Given the description of an element on the screen output the (x, y) to click on. 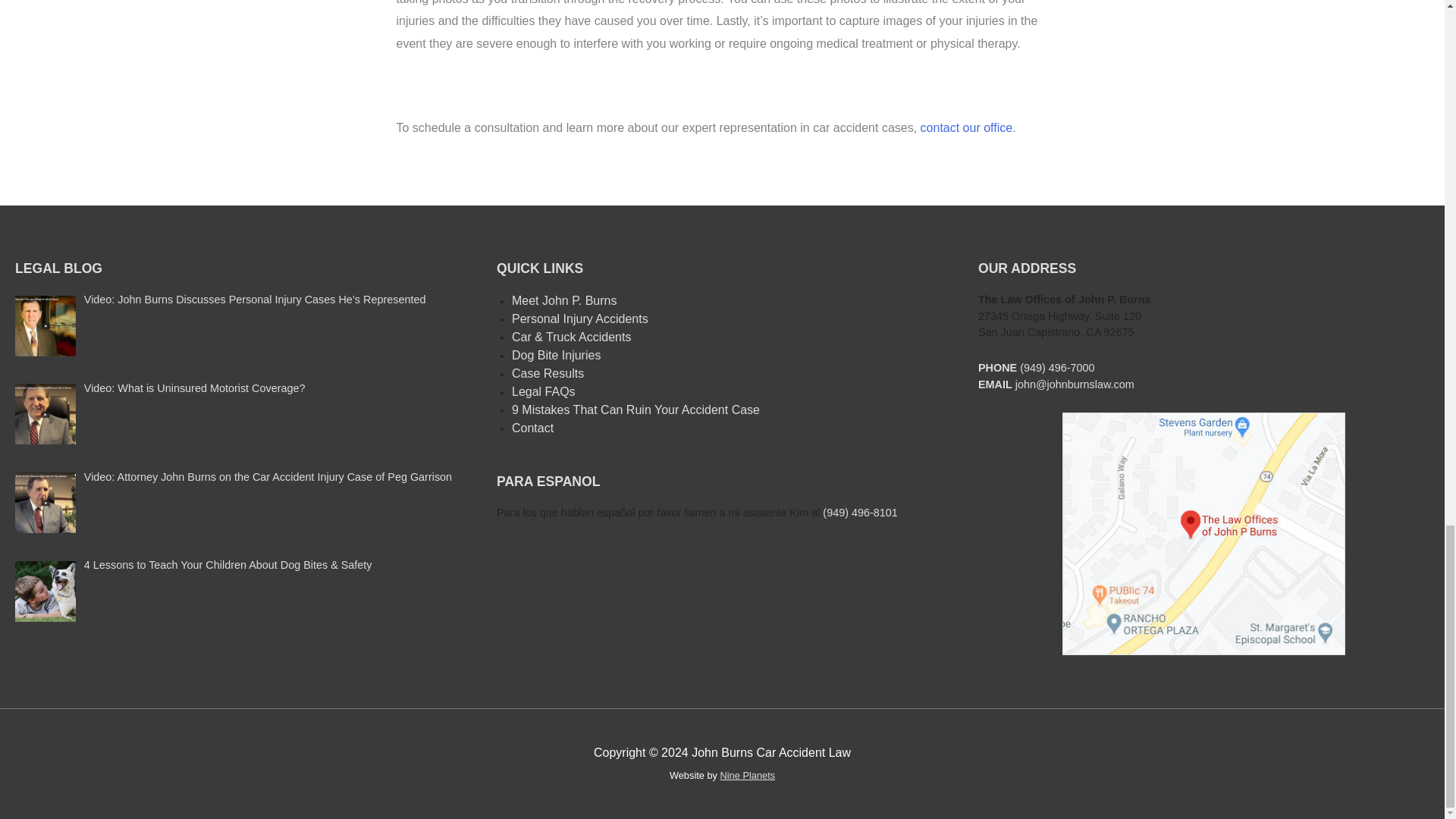
contact our office (966, 127)
Case Results (547, 373)
Meet John P. Burns (563, 300)
Personal Injury Accidents (579, 318)
Dog Bite Injuries (555, 354)
Video: What is Uninsured Motorist Coverage? (194, 387)
Legal FAQs (543, 391)
